Given the description of an element on the screen output the (x, y) to click on. 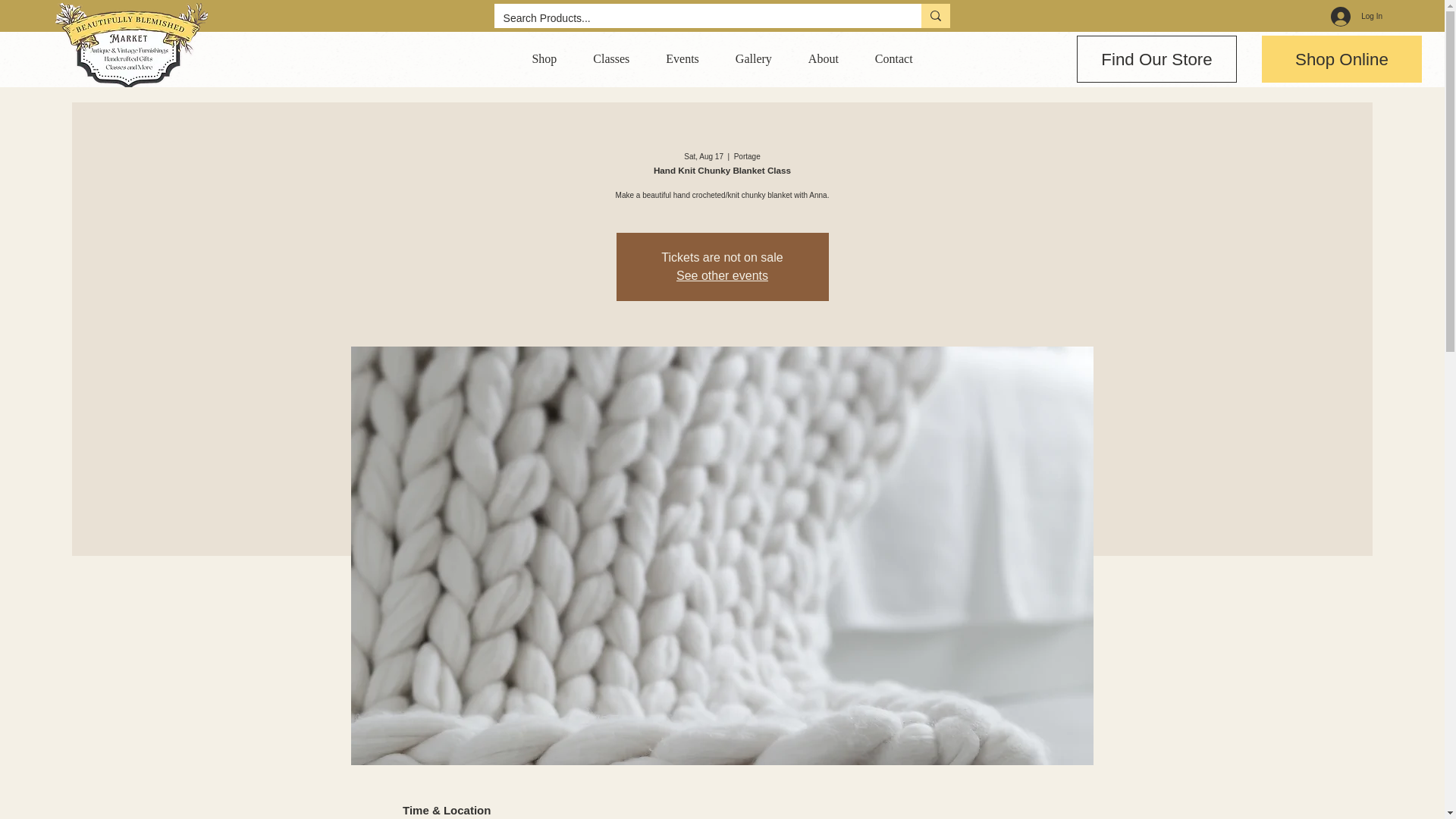
Events (682, 58)
About (823, 58)
Gallery (753, 58)
Contact (894, 58)
Classes (722, 58)
Log In (611, 58)
Find Our Store (1356, 16)
Shop Online (1156, 59)
See other events (1342, 59)
